Given the description of an element on the screen output the (x, y) to click on. 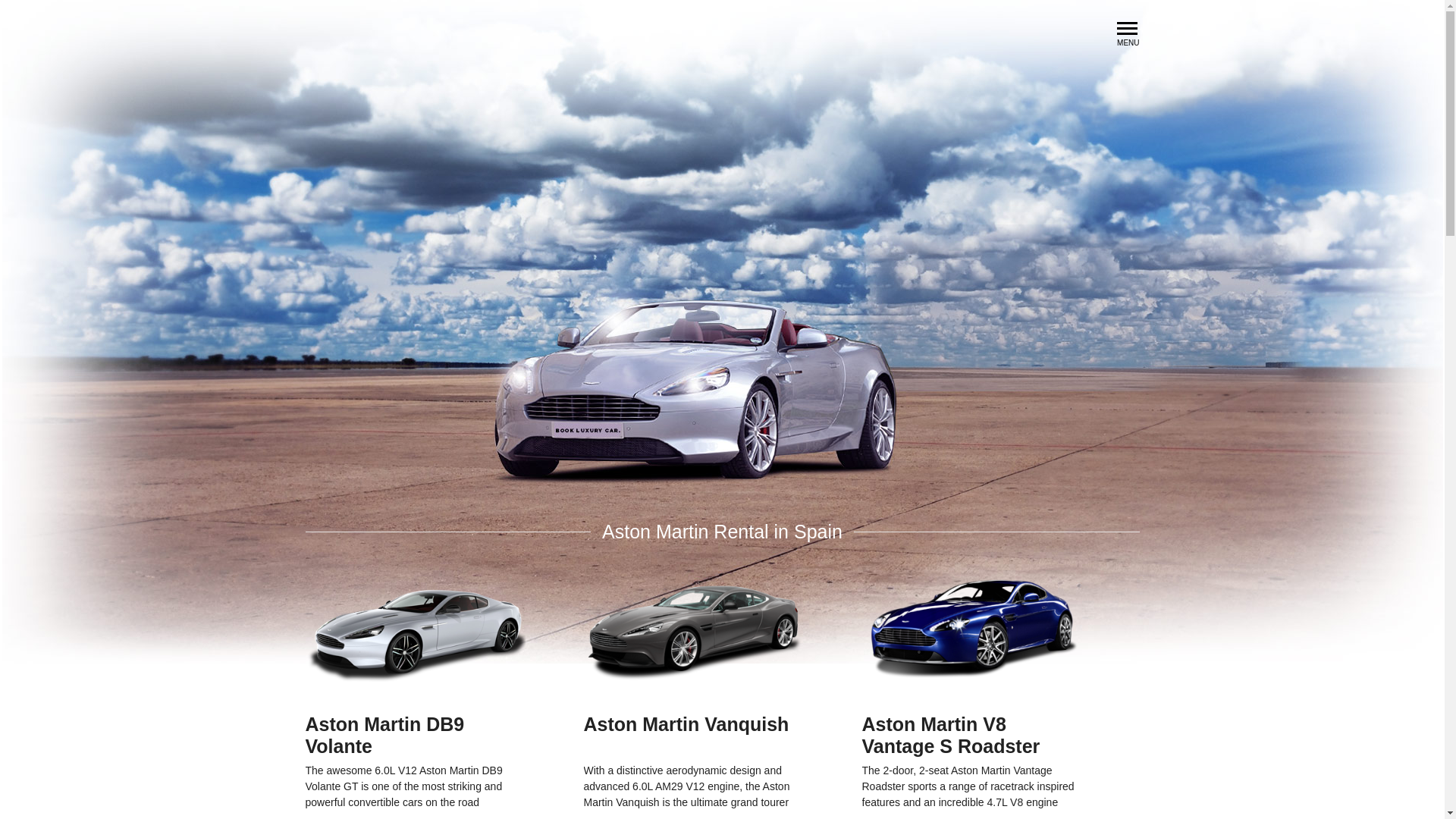
Aston Martin DB9 Volante (414, 721)
Aston Martin Vanquish (693, 721)
Aston Martin V8 Vantage S Roadster (971, 721)
